Given the description of an element on the screen output the (x, y) to click on. 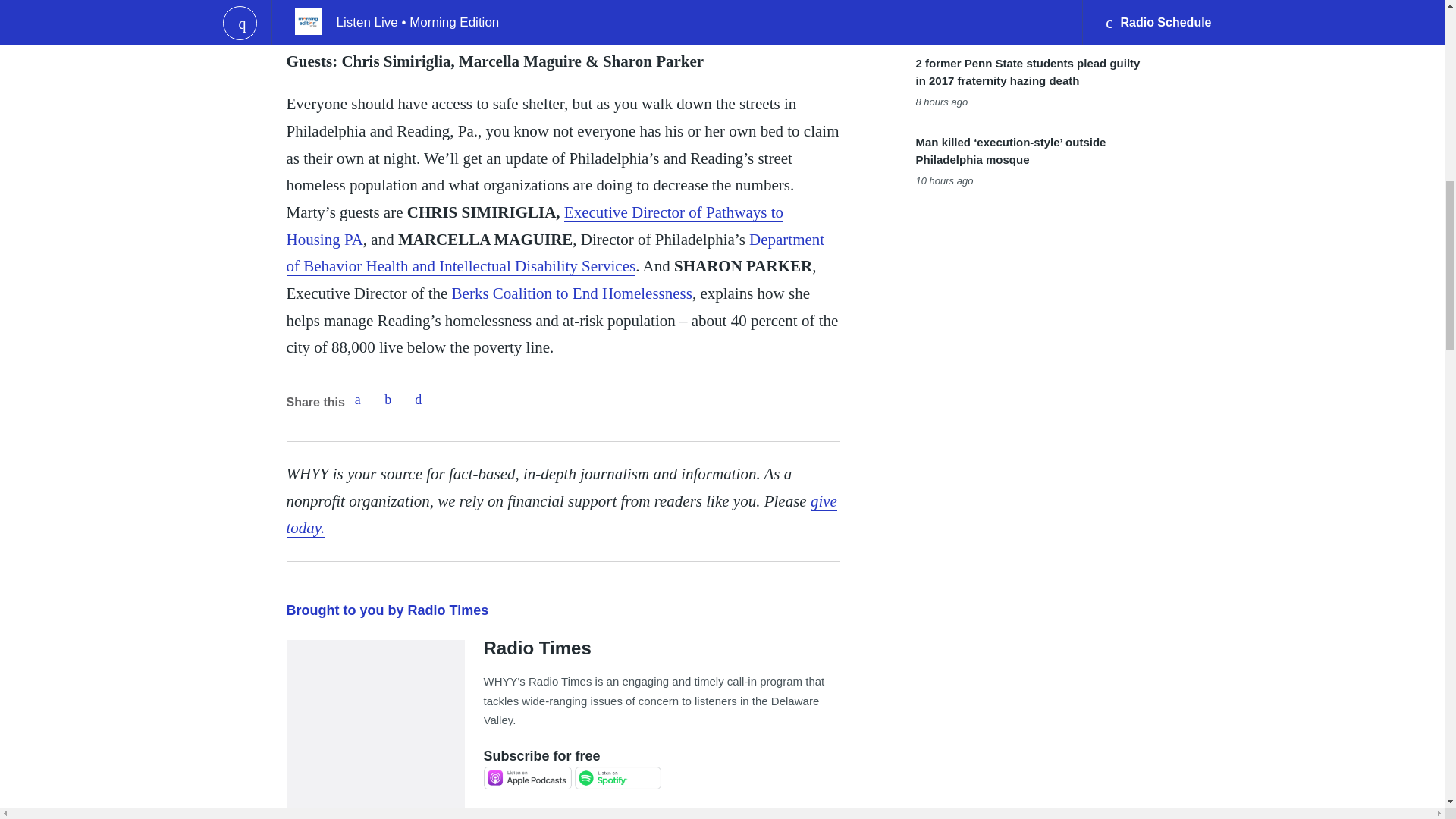
Twitter (387, 399)
Email (418, 399)
Facebook (357, 399)
